Given the description of an element on the screen output the (x, y) to click on. 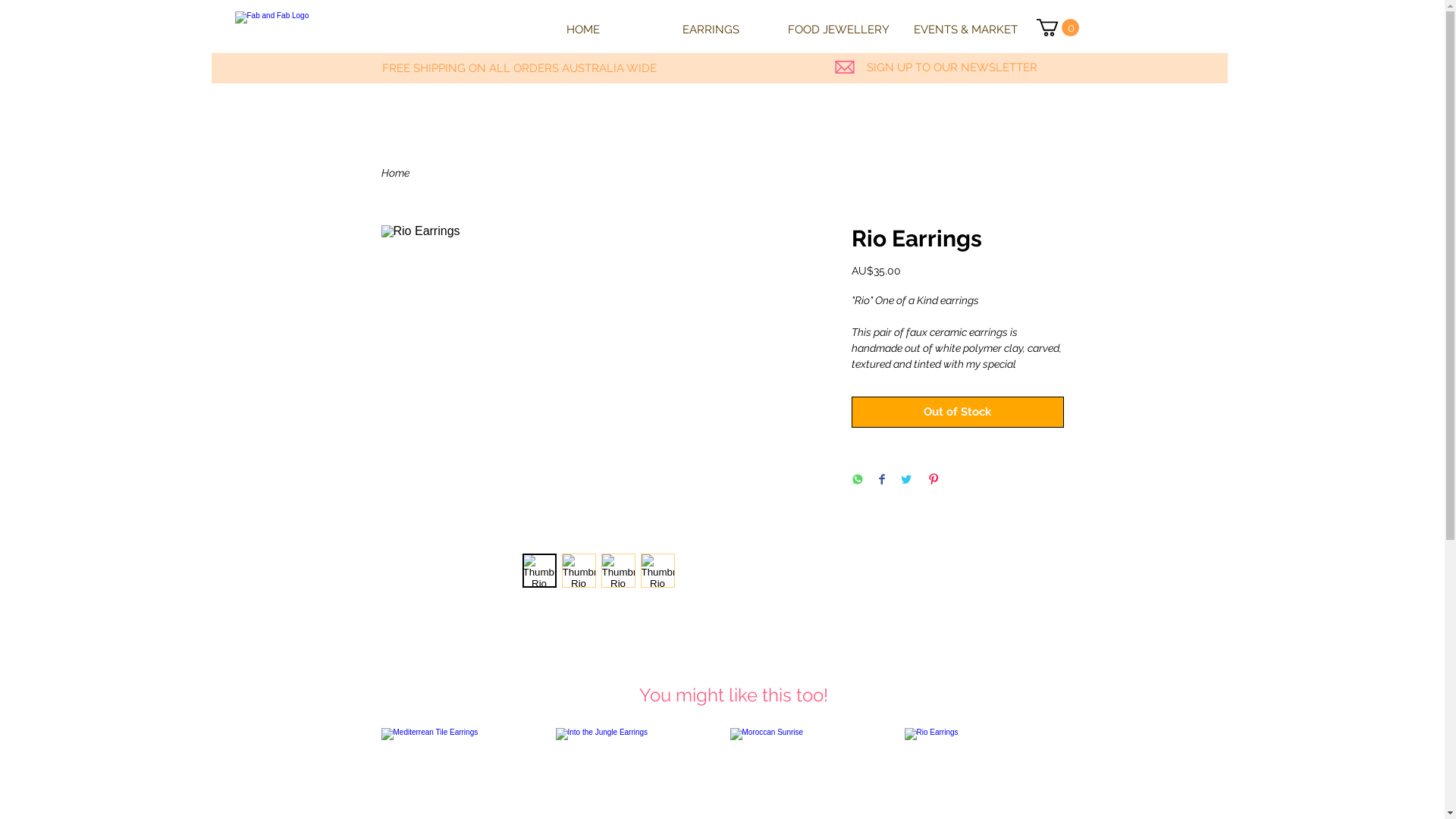
EARRINGS Element type: text (711, 29)
FREE SHIPPING ON ALL ORDERS AUSTRALIA WIDE Element type: text (519, 68)
Out of Stock Element type: text (956, 411)
EVENTS & MARKET Element type: text (965, 29)
HOME Element type: text (582, 29)
0 Element type: text (1056, 27)
Home Element type: text (394, 172)
FOOD JEWELLERY Element type: text (838, 29)
SIGN UP TO OUR NEWSLETTER Element type: text (951, 67)
